Given the description of an element on the screen output the (x, y) to click on. 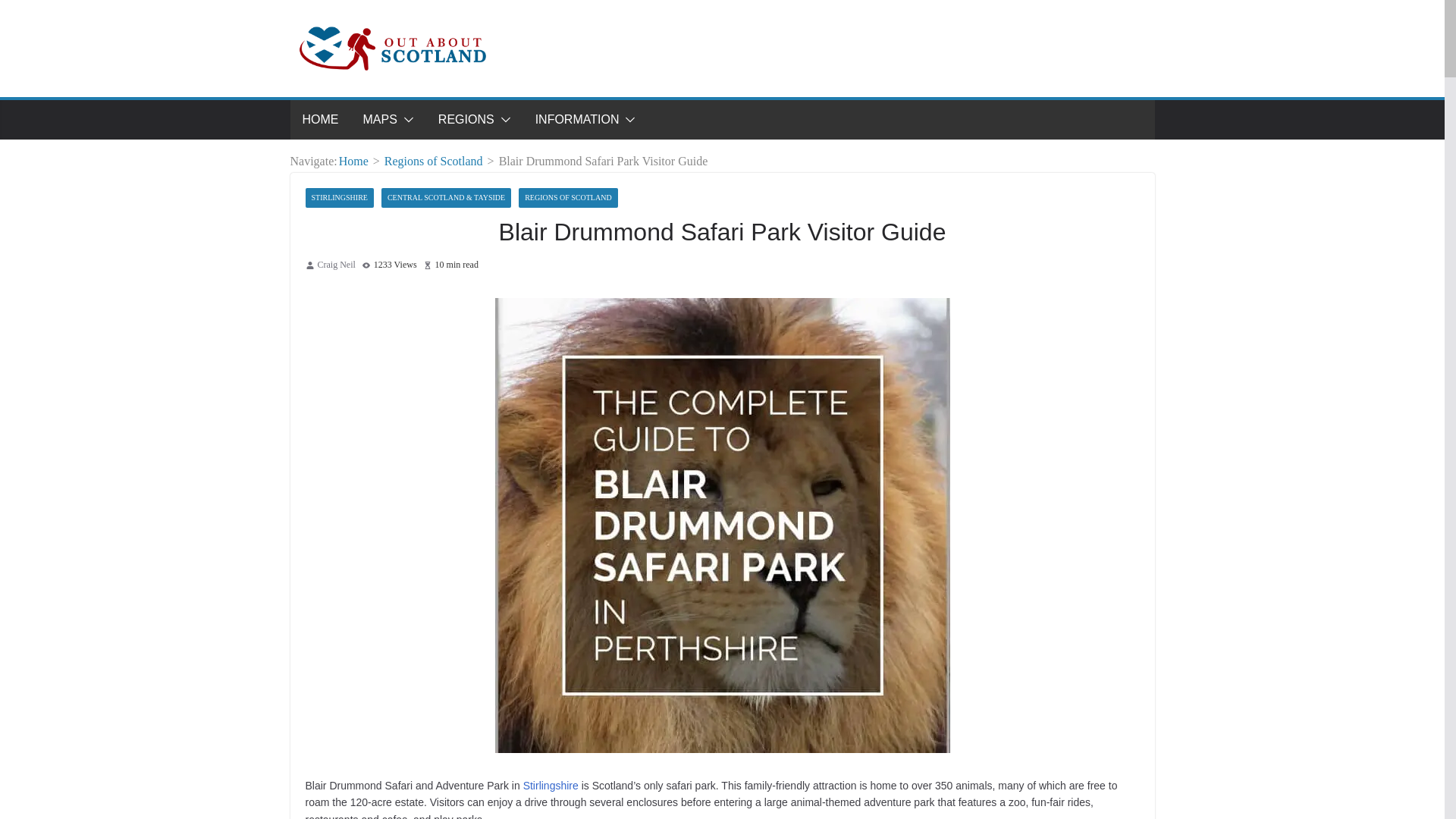
MAPS (379, 119)
STIRLINGSHIRE (338, 198)
Stirlingshire (550, 785)
REGIONS OF SCOTLAND (567, 198)
Craig Neil (336, 265)
INFORMATION (577, 119)
Craig Neil (336, 265)
REGIONS (466, 119)
Home (353, 160)
HOME (319, 119)
Regions of Scotland (433, 160)
